Given the description of an element on the screen output the (x, y) to click on. 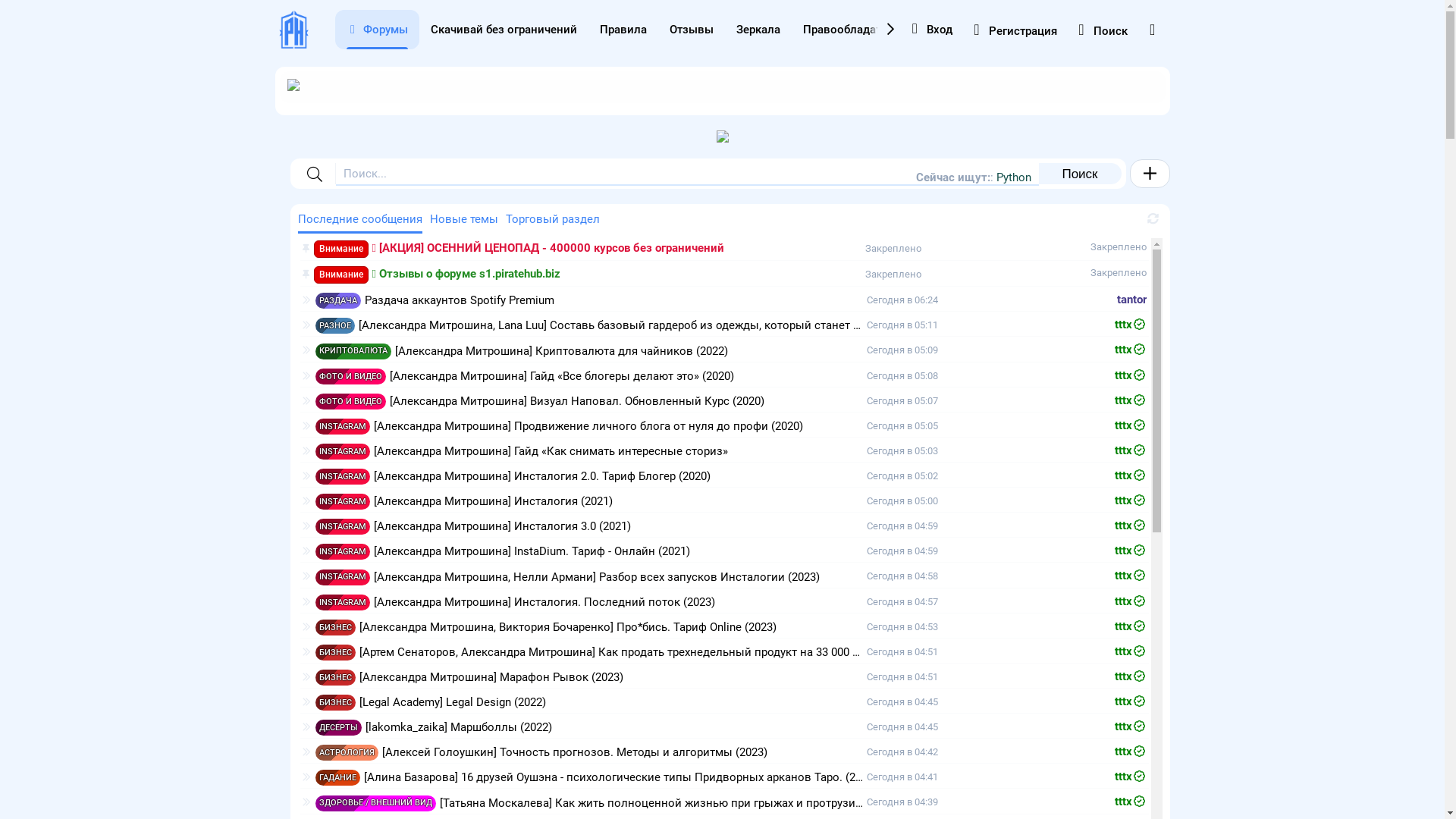
tttx Element type: text (1130, 751)
tttx Element type: text (1130, 400)
tttx Element type: text (1130, 726)
[Legal Academy] Legal Design (2022) Element type: text (452, 702)
tttx Element type: text (1130, 676)
tttx Element type: text (1130, 450)
tttx Element type: text (1130, 349)
tttx Element type: text (1130, 375)
tttx Element type: text (1130, 525)
tttx Element type: text (1130, 475)
tttx Element type: text (1130, 601)
tttx Element type: text (1130, 801)
tttx Element type: text (1130, 651)
tttx Element type: text (1130, 425)
tttx Element type: text (1130, 701)
tttx Element type: text (1130, 776)
tttx Element type: text (1130, 500)
tttx Element type: text (1130, 575)
Java Element type: text (1018, 177)
tttx Element type: text (1130, 626)
tttx Element type: text (1130, 324)
tantor Element type: text (1130, 299)
tttx Element type: text (1130, 550)
